Given the description of an element on the screen output the (x, y) to click on. 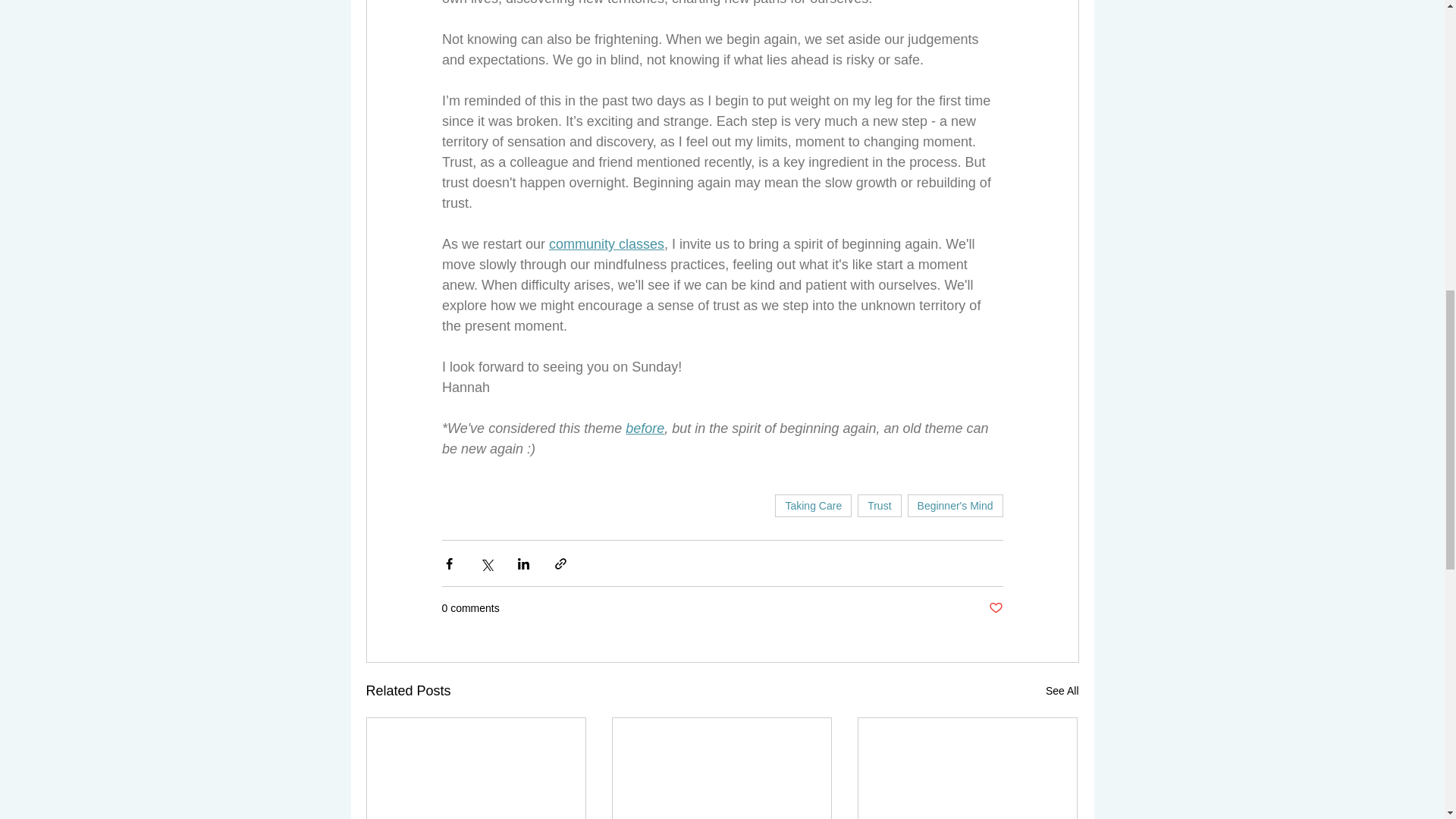
See All (1061, 690)
Trust (879, 505)
before (644, 427)
Beginner's Mind (955, 505)
Taking Care (812, 505)
Post not marked as liked (995, 608)
community classes (605, 243)
